Given the description of an element on the screen output the (x, y) to click on. 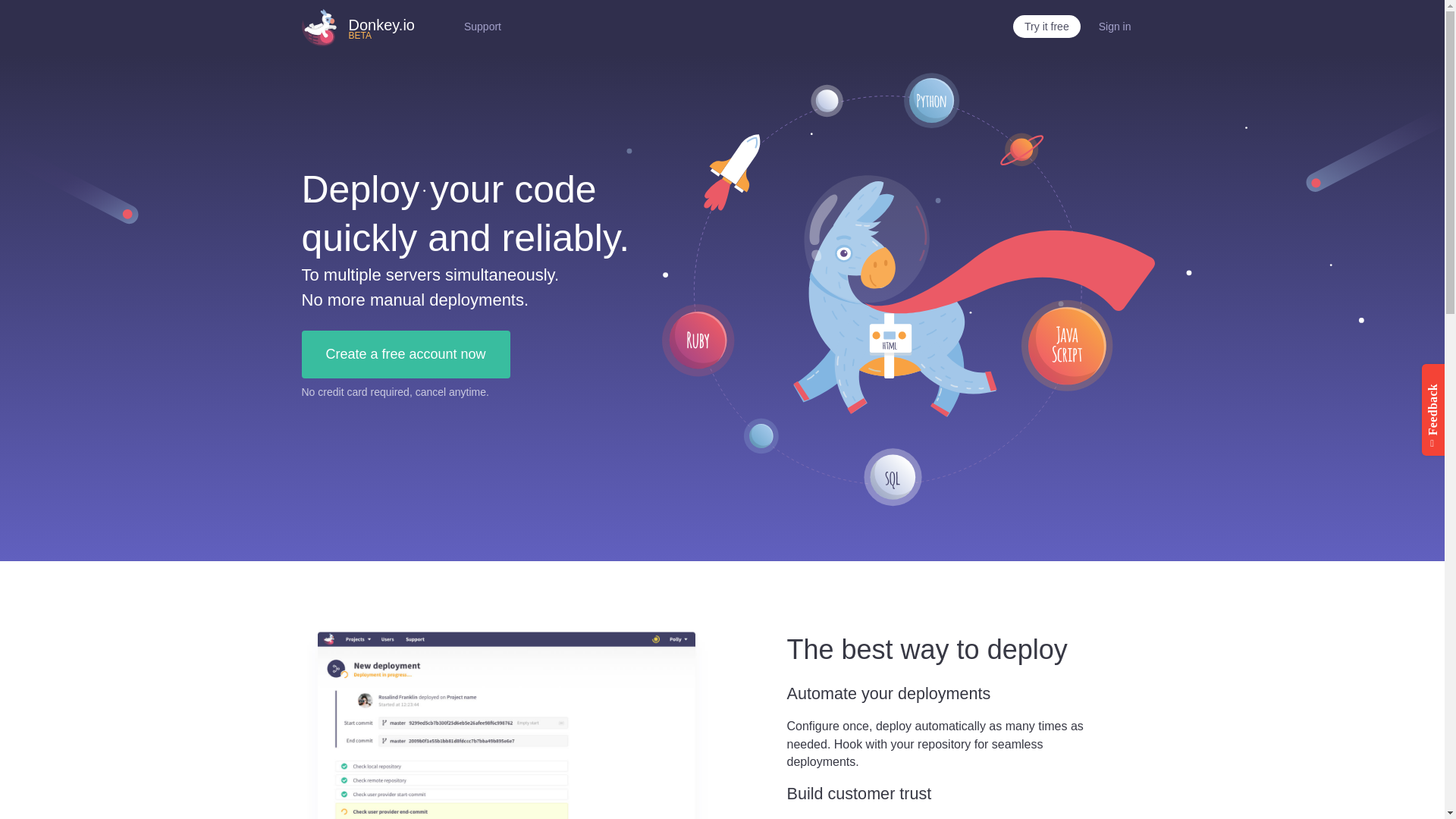
Sign in (380, 30)
Create a free account now (1114, 26)
Support (406, 354)
Try it free (482, 26)
